Given the description of an element on the screen output the (x, y) to click on. 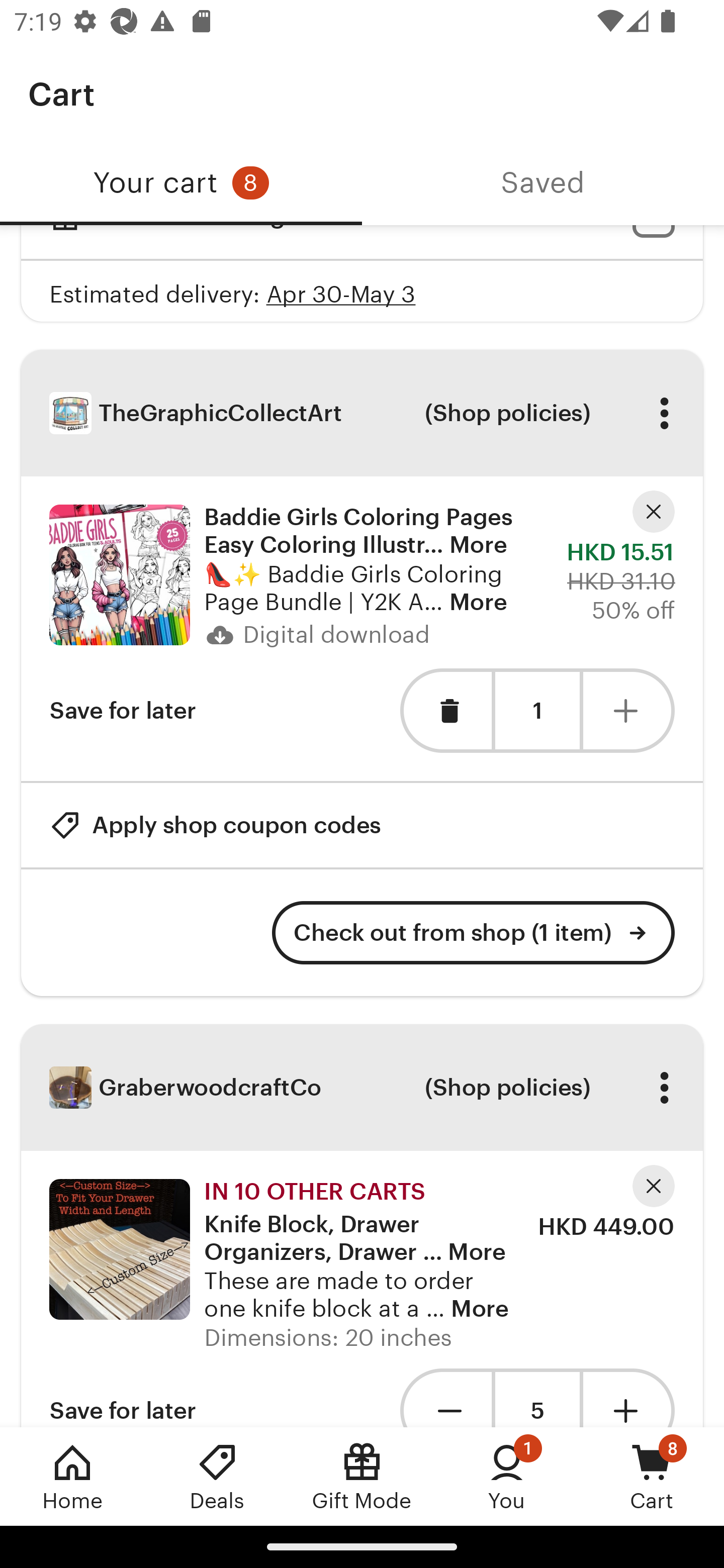
Saved, tab 2 of 2 Saved (543, 183)
TheGraphicCollectArt (Shop policies) More options (361, 412)
(Shop policies) (507, 412)
More options (663, 412)
Save for later (122, 709)
Remove item from cart (445, 709)
Add one unit to cart (628, 709)
1 (537, 710)
Apply shop coupon codes (215, 824)
Check out from shop (1 item) (473, 932)
GraberwoodcraftCo (Shop policies) More options (361, 1086)
(Shop policies) (507, 1087)
More options (663, 1087)
Save for later (122, 1397)
Remove one unit from cart (445, 1397)
Add one unit to cart (628, 1397)
5 (537, 1397)
Home (72, 1475)
Deals (216, 1475)
Gift Mode (361, 1475)
You, 1 new notification You (506, 1475)
